Given the description of an element on the screen output the (x, y) to click on. 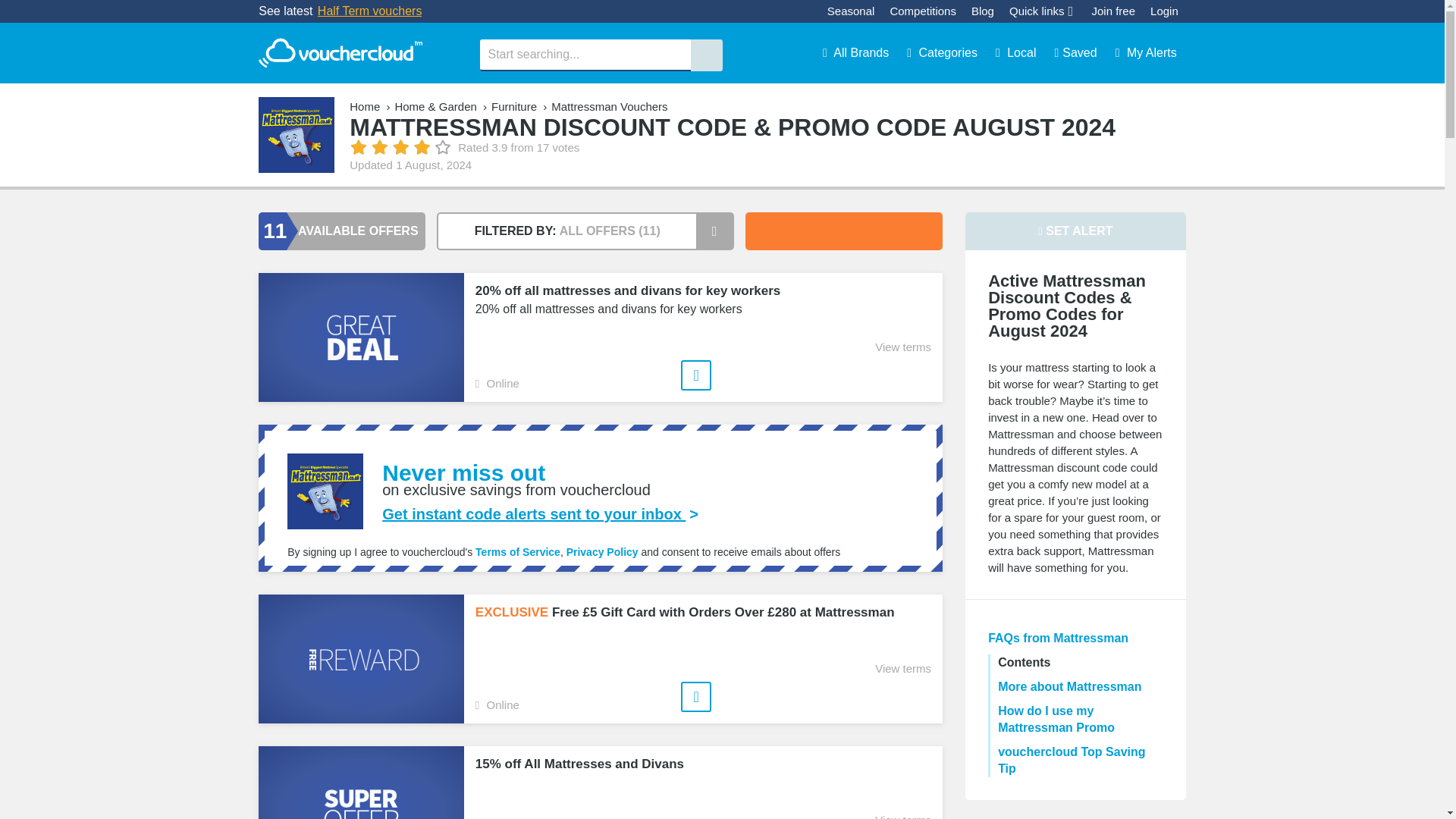
vouchercloud (340, 52)
SEARCH (706, 55)
